Given the description of an element on the screen output the (x, y) to click on. 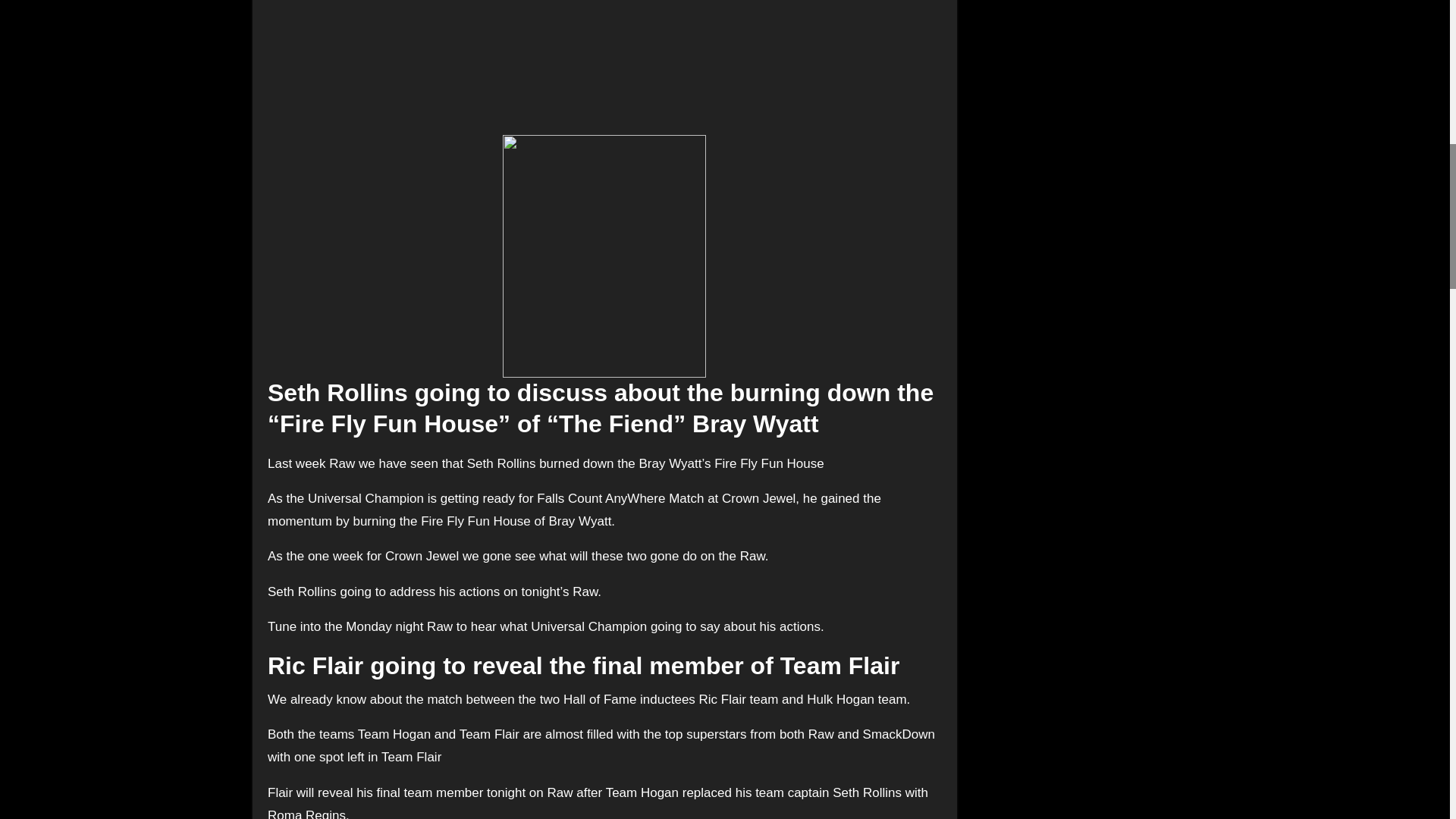
Advertisement (606, 64)
